Given the description of an element on the screen output the (x, y) to click on. 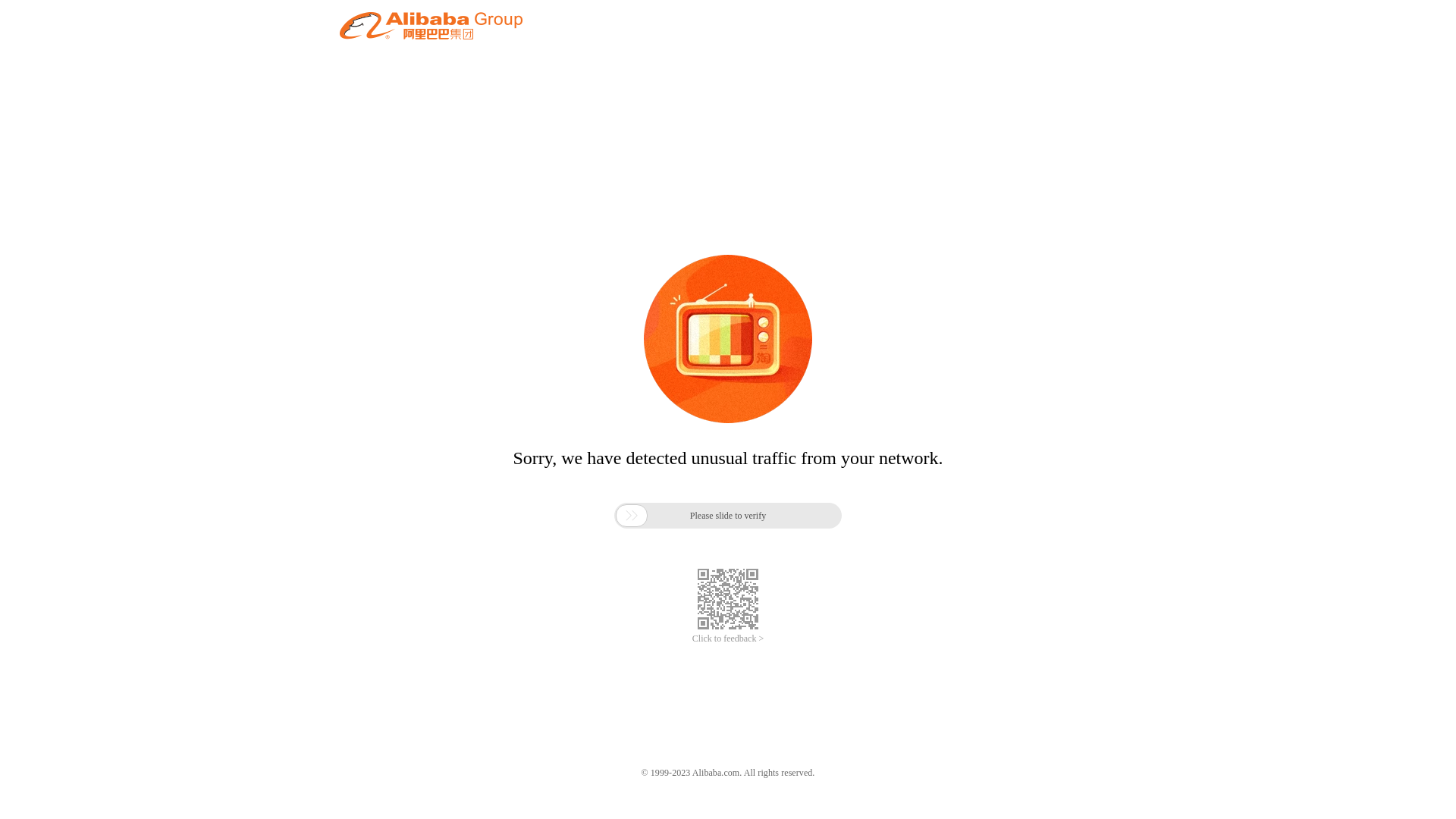
Click to feedback > Element type: text (727, 638)
